Given the description of an element on the screen output the (x, y) to click on. 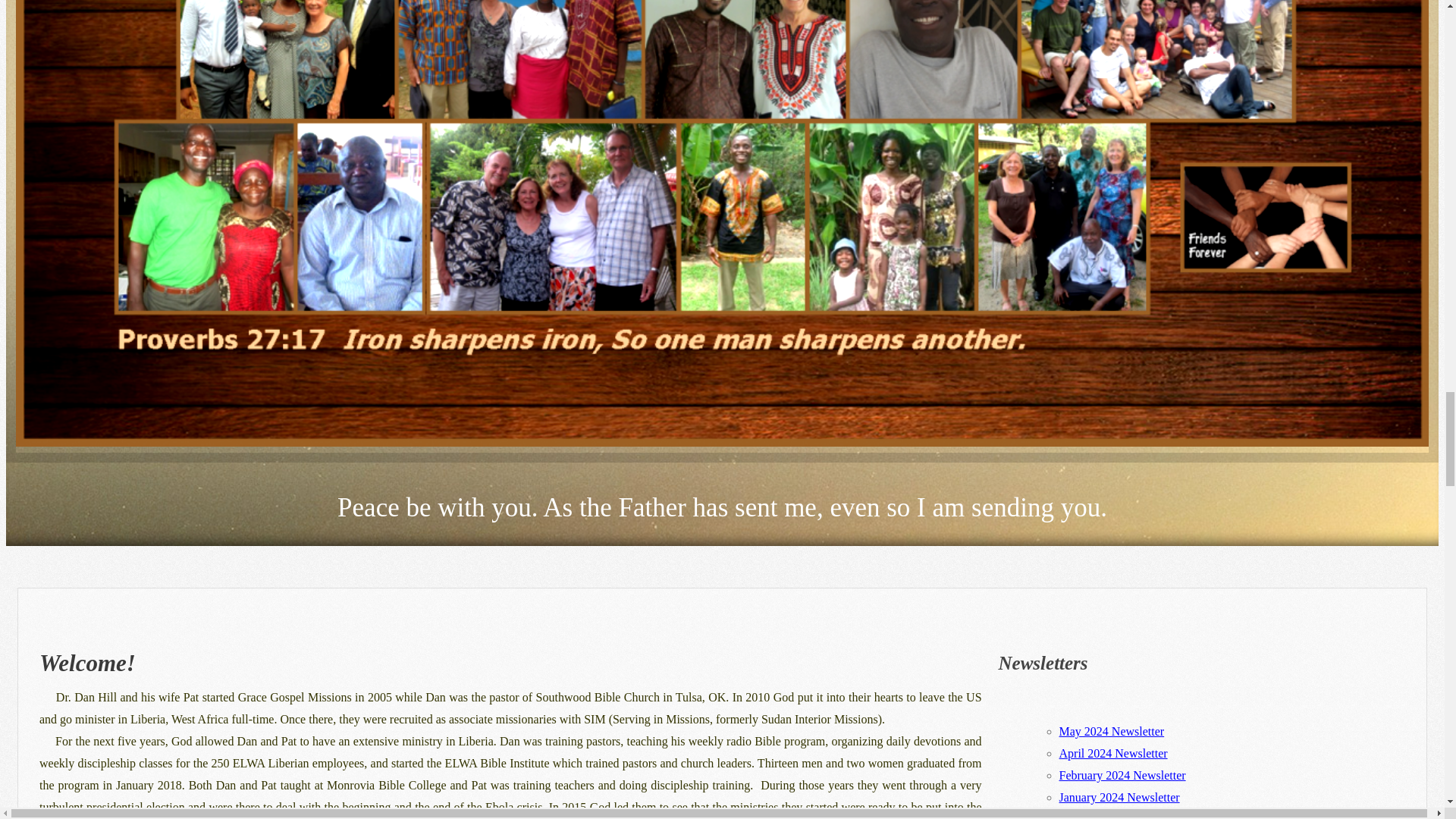
February 2024 Newsletter (1122, 775)
May 2024 Newsletter (1111, 730)
January 2024 Newsletter (1119, 797)
December 2023 Newsletter (1125, 816)
April 2024 Newsletter (1113, 753)
